Given the description of an element on the screen output the (x, y) to click on. 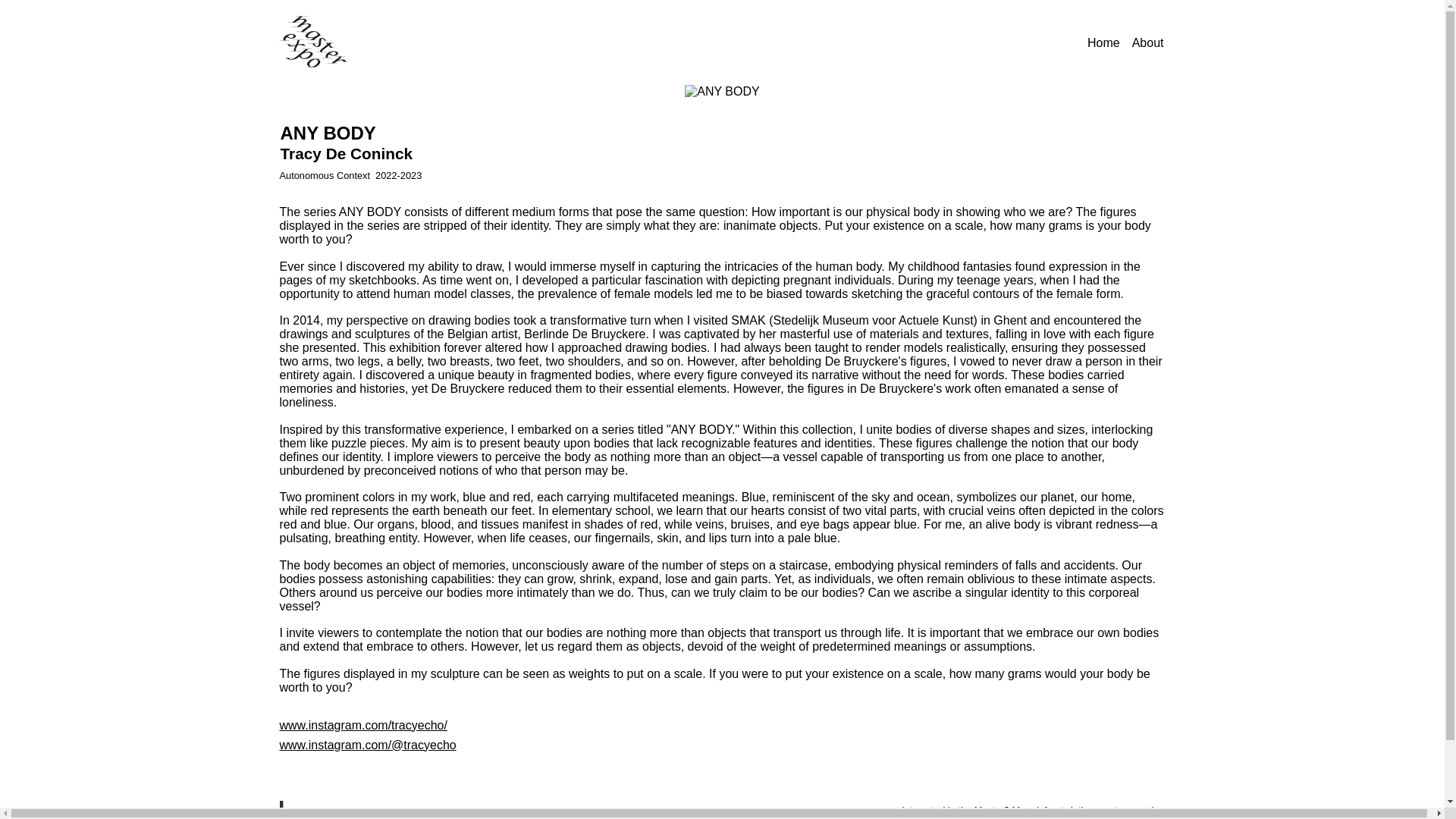
Home (1103, 42)
About (1147, 42)
sintlucasantwerpen.be (1113, 809)
